Given the description of an element on the screen output the (x, y) to click on. 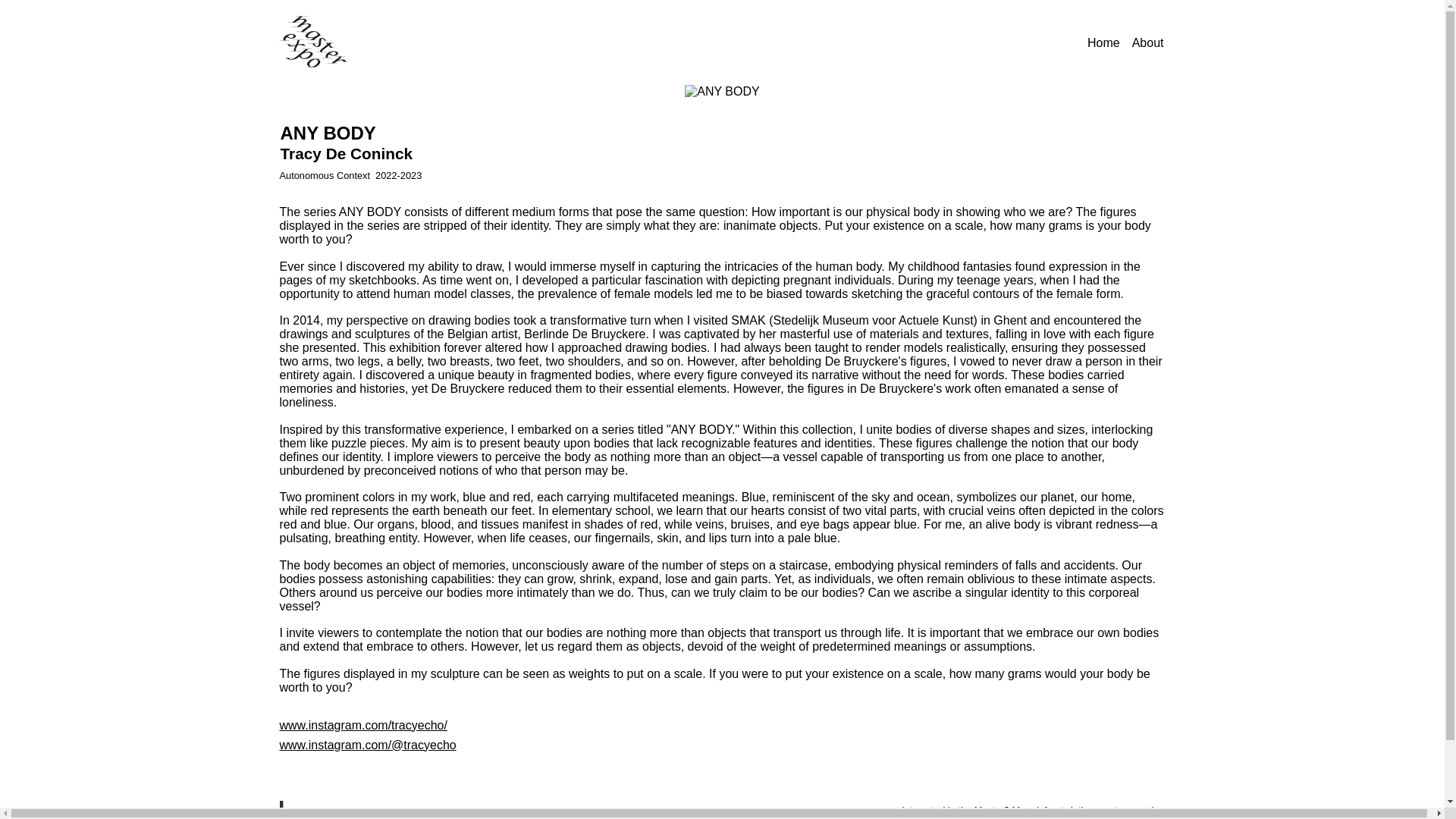
Home (1103, 42)
About (1147, 42)
sintlucasantwerpen.be (1113, 809)
